Given the description of an element on the screen output the (x, y) to click on. 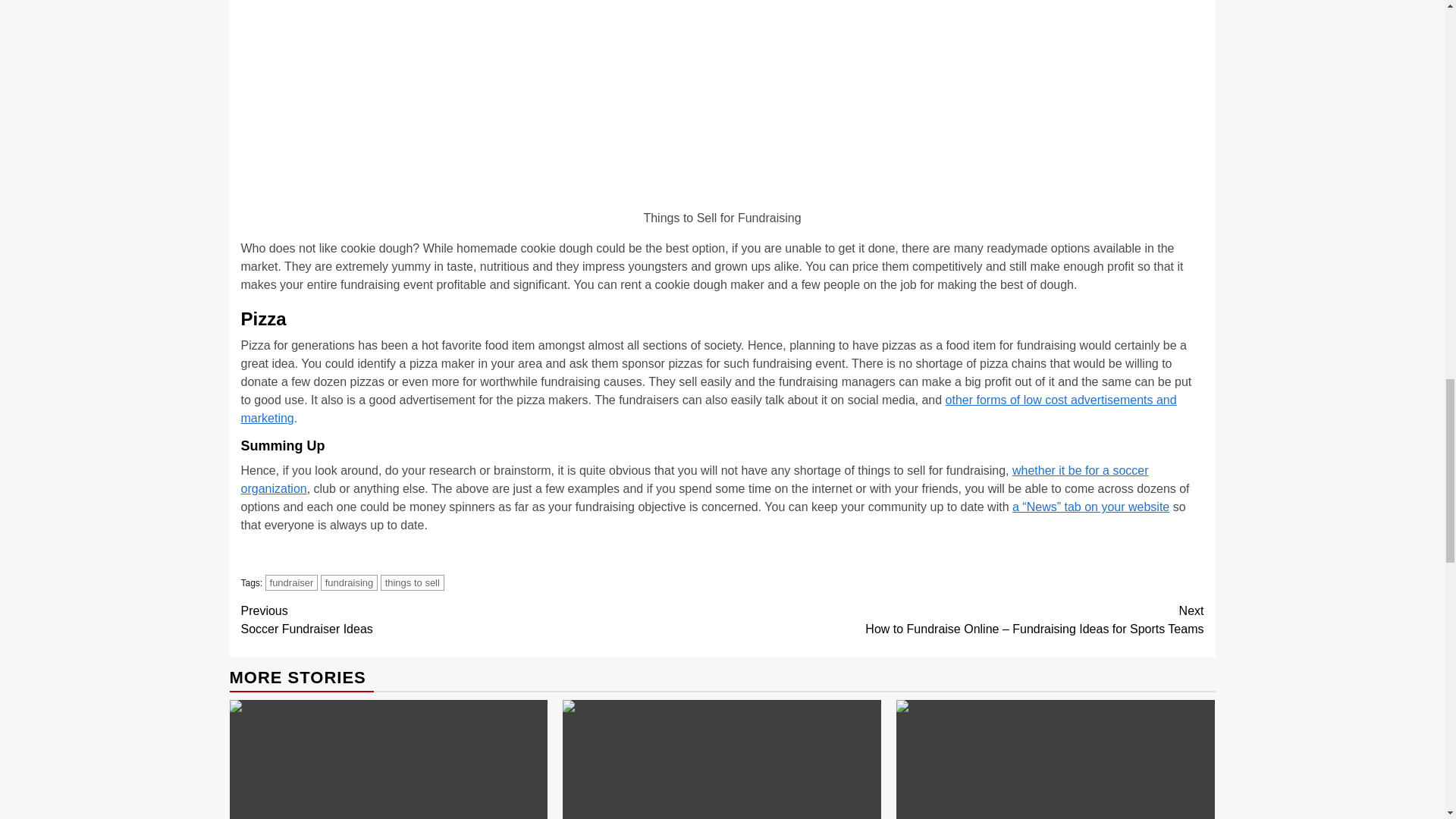
fundraising (349, 582)
Things to Sell for Fundraising (721, 99)
fundraiser (481, 619)
whether it be for a soccer organization (291, 582)
other forms of low cost advertisements and marketing (694, 479)
things to sell (708, 409)
